Given the description of an element on the screen output the (x, y) to click on. 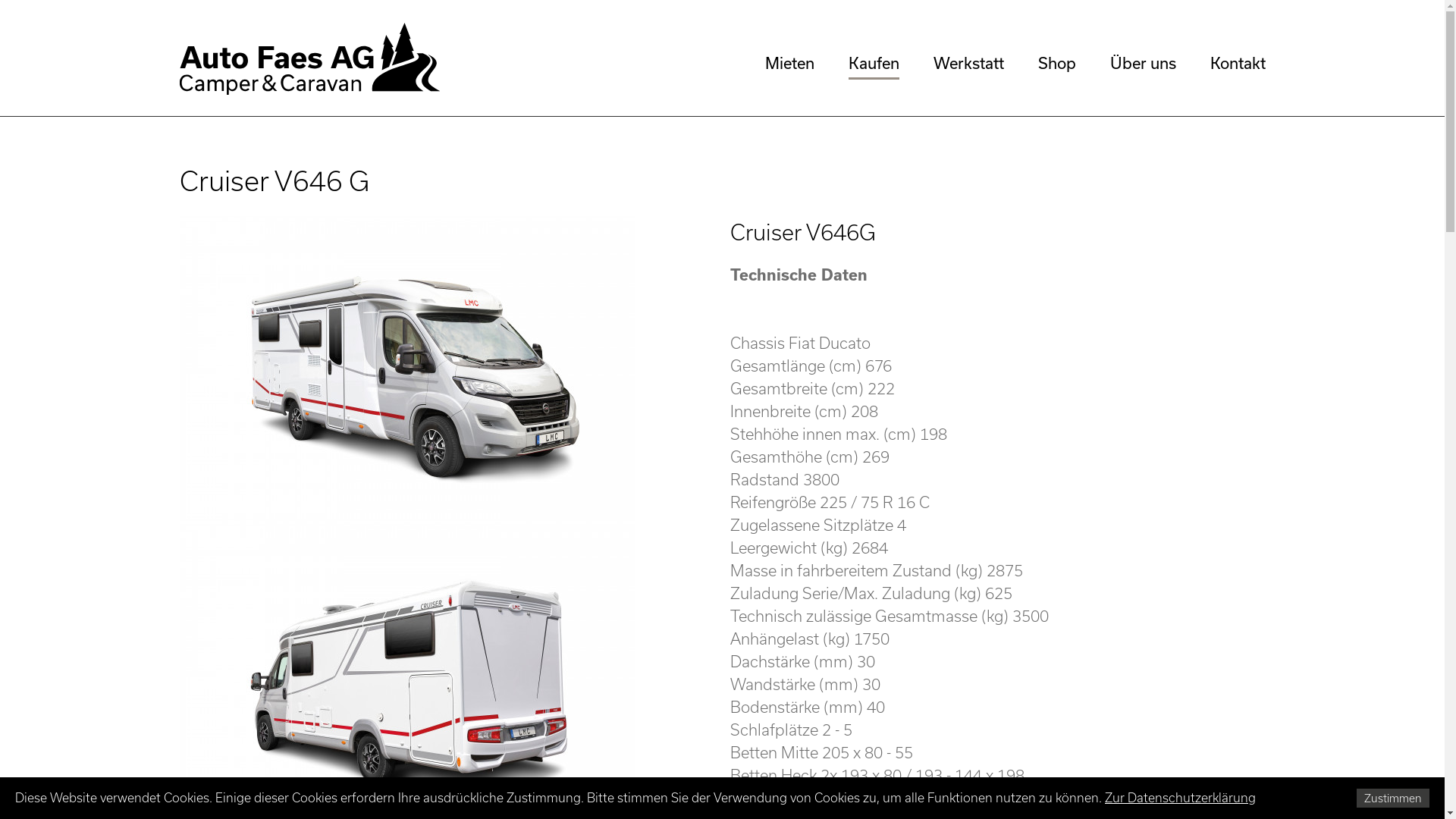
Kaufen Element type: text (872, 62)
Kontakt Element type: text (1237, 62)
Mieten Element type: text (788, 62)
Werkstatt Element type: text (967, 62)
Auto Faes AG Element type: hover (308, 58)
Shop Element type: text (1056, 62)
